Given the description of an element on the screen output the (x, y) to click on. 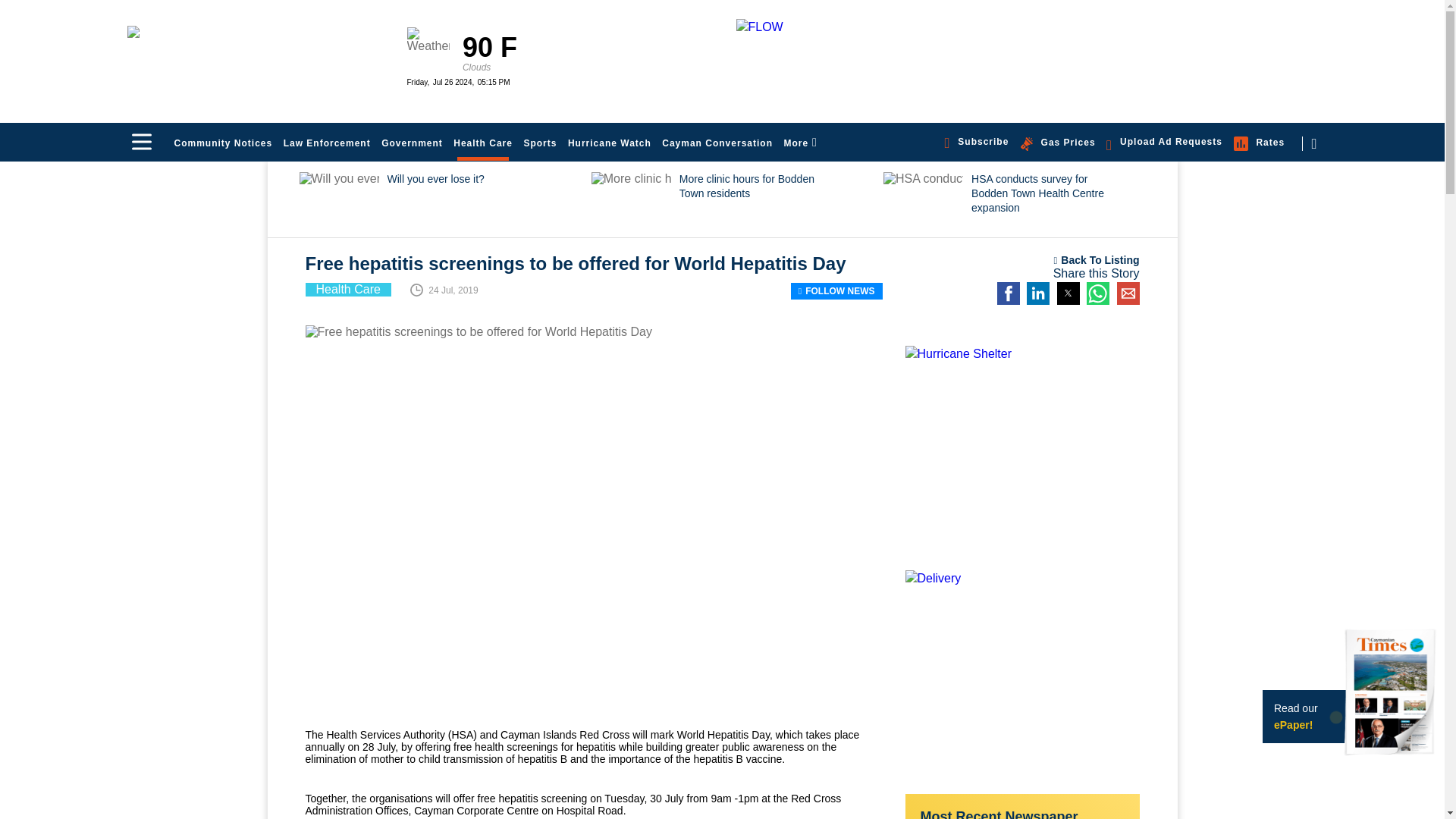
Caymanian Times (258, 55)
Sports (539, 143)
Sports (539, 143)
More (799, 143)
Health Care (482, 143)
Hurricane Watch (609, 143)
Community Notices (223, 143)
Will you ever lose it? (440, 203)
Menu (141, 141)
More clinic hours for Bodden Town residents (733, 203)
Health Care (482, 143)
Hurricane Watch (609, 143)
Government (411, 143)
Cayman Conversation (717, 143)
